Given the description of an element on the screen output the (x, y) to click on. 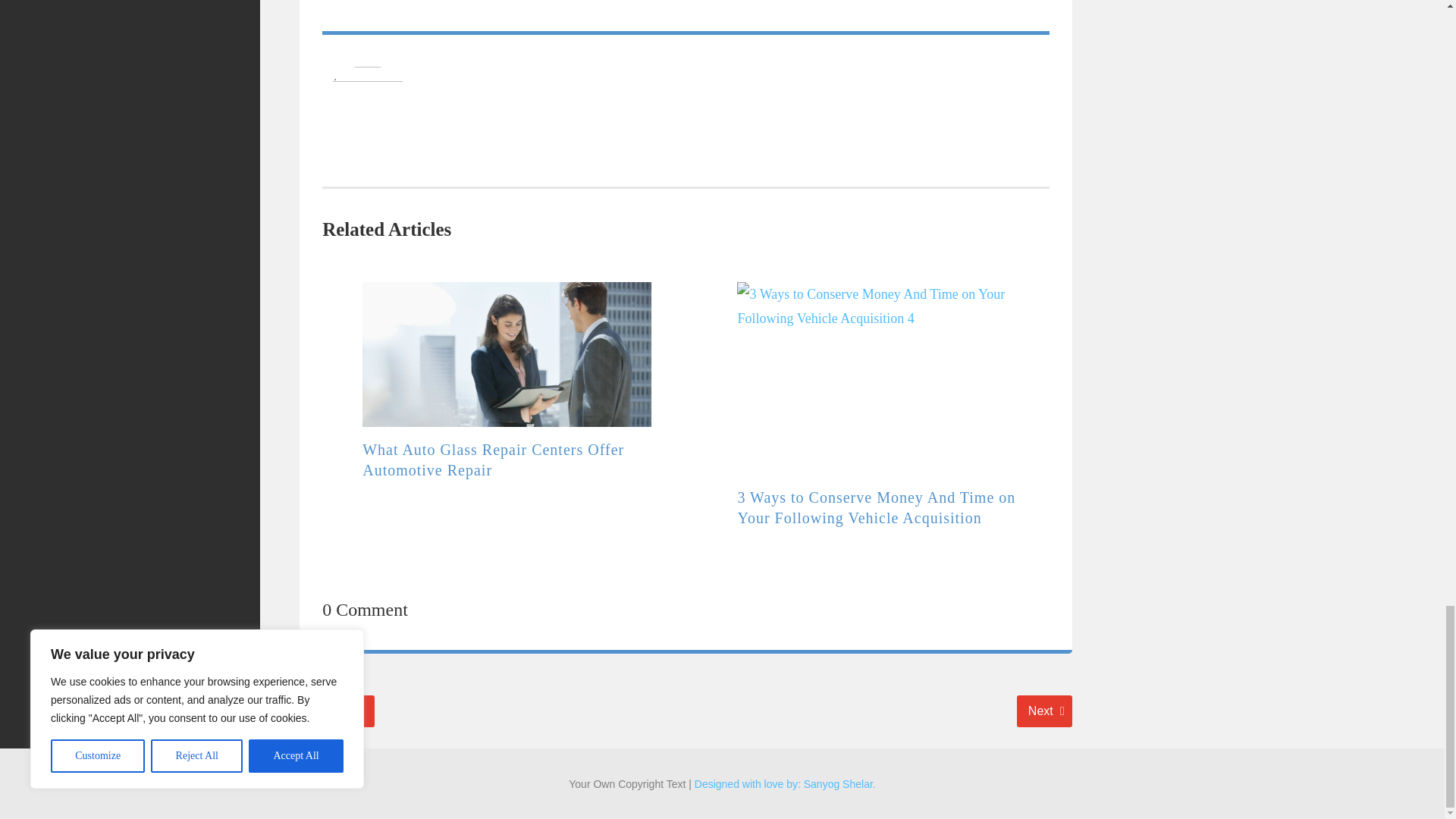
What Auto Glass Repair Centers Offer Automotive Repair (1043, 711)
